Given the description of an element on the screen output the (x, y) to click on. 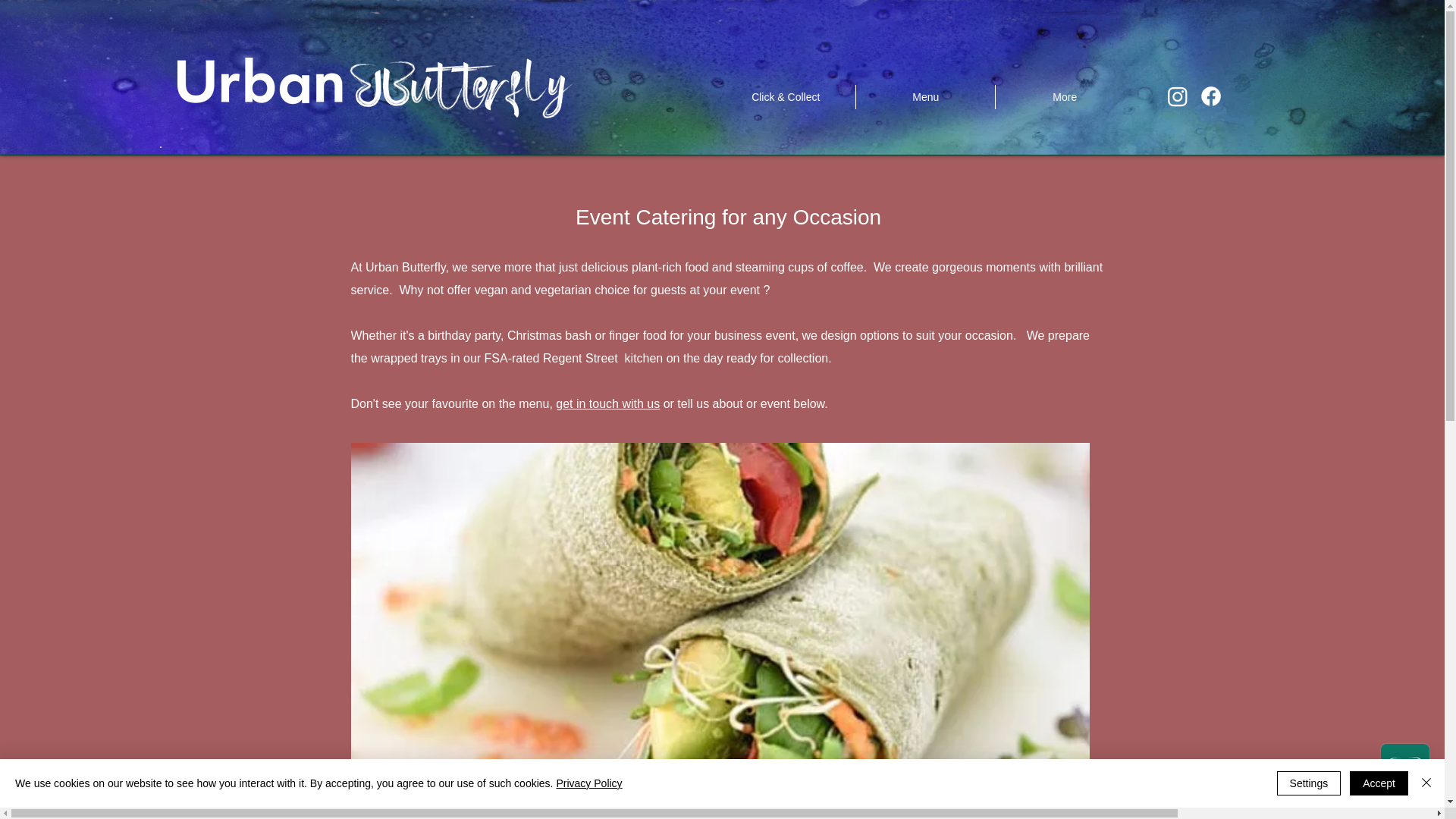
get in touch with us (607, 403)
Privacy Policy (588, 783)
Wix Chat (1408, 771)
Menu (925, 96)
Accept (1378, 783)
Settings (1308, 783)
